Given the description of an element on the screen output the (x, y) to click on. 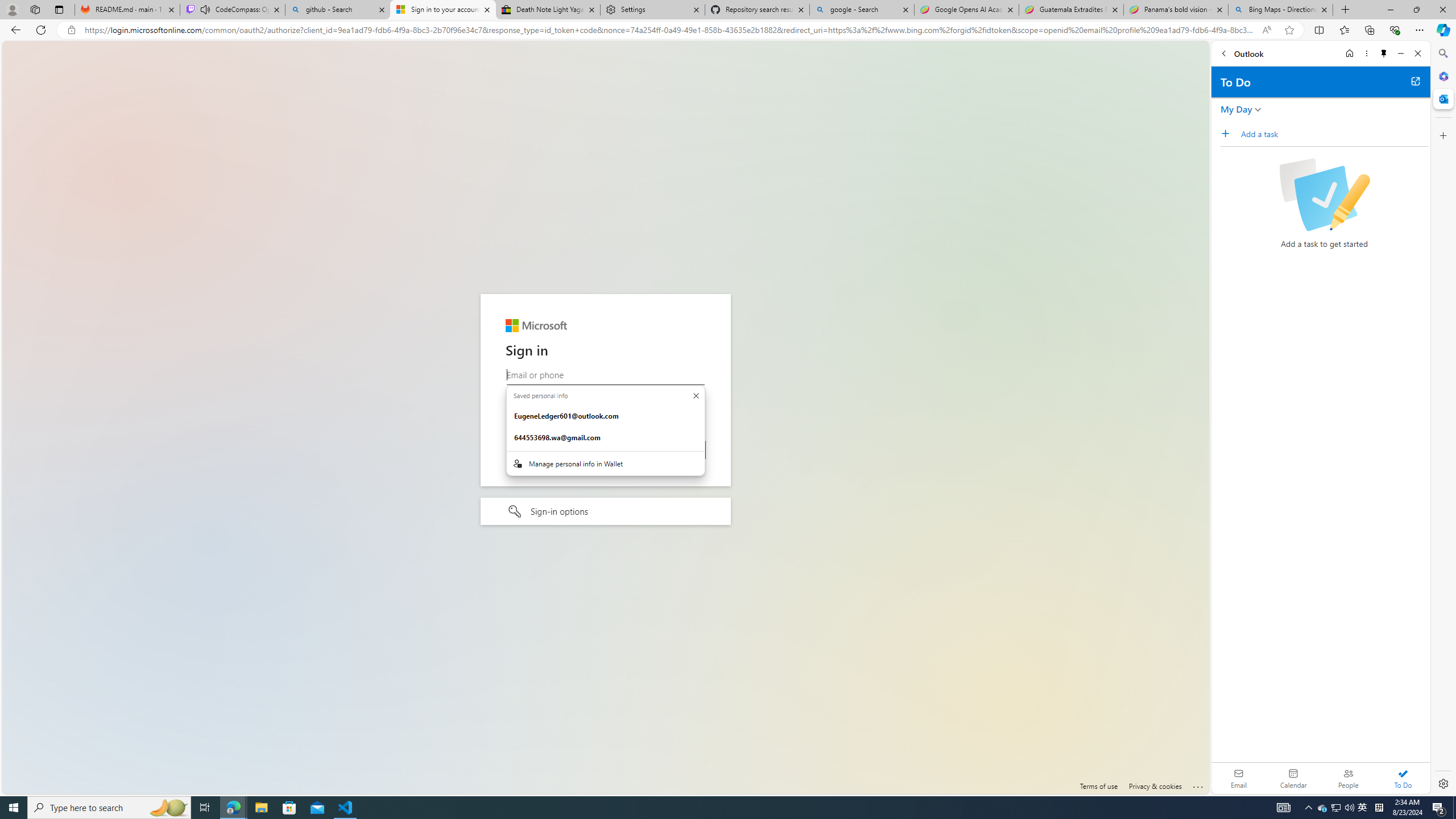
Calendar. Date today is 22 (1293, 777)
Mute tab (204, 8)
Terms of use (1098, 786)
My Day (1236, 109)
Microsoft (535, 326)
Organization background image (605, 416)
Add a task (1334, 133)
Privacy & cookies (1155, 786)
Open in new tab (1414, 80)
